Given the description of an element on the screen output the (x, y) to click on. 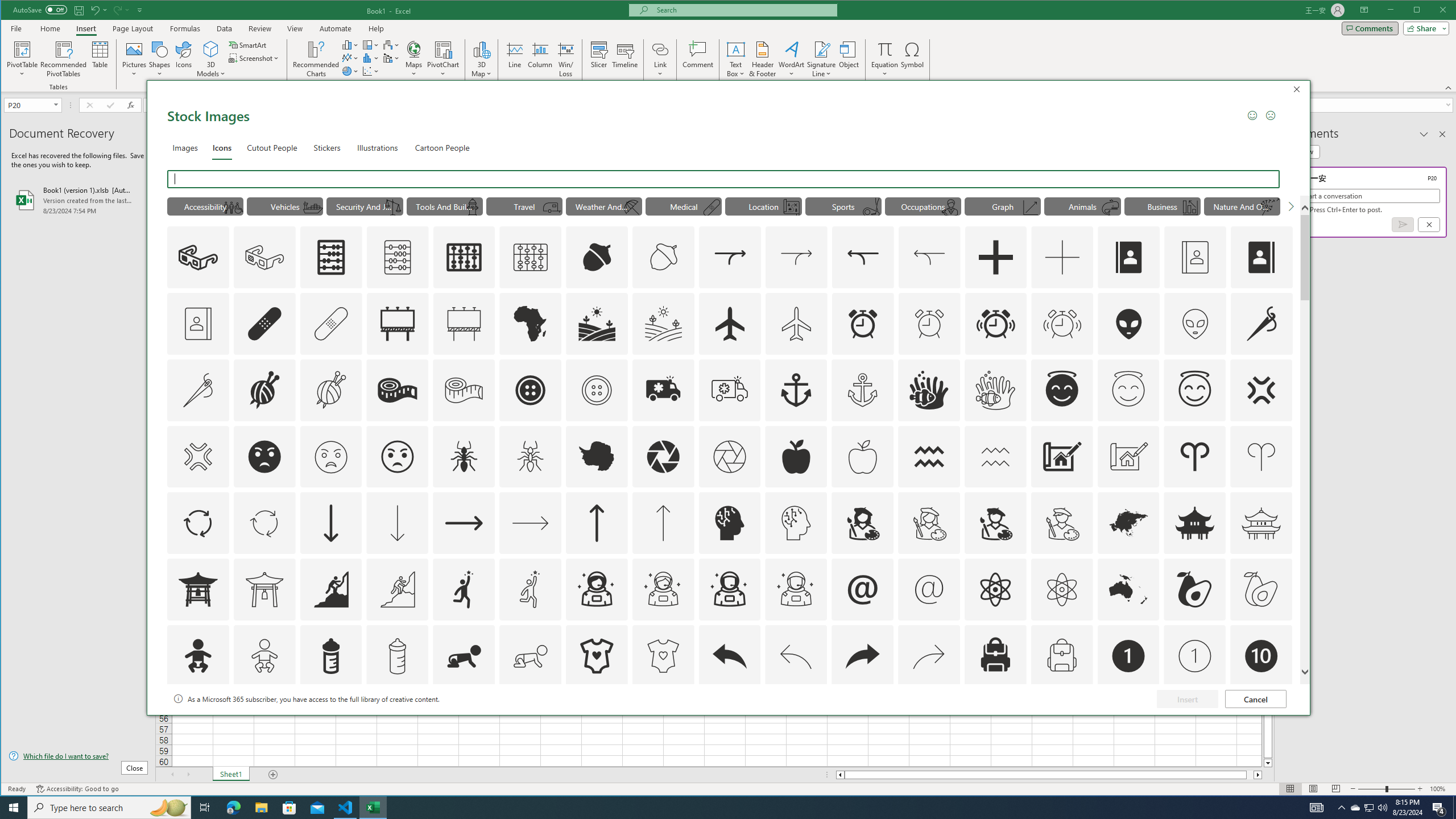
AutomationID: Icons_Badge5_M (729, 721)
AutomationID: Icons_ArrowUp_M (663, 522)
AutomationID: Icons_Badge1_M (1194, 655)
PivotChart (443, 48)
AutomationID: Icons_Whale_M (1110, 207)
AutomationID: Icons_Acorn_M (663, 256)
AutomationID: Icons_Apple (796, 456)
AutomationID: Icons_ArrowDown_M (397, 522)
AutomationID: Icons_BabyOnesie_M (663, 655)
AutomationID: Icons_Back_RTL_M (928, 655)
AutomationID: Icons_Atom_M (1061, 589)
